Given the description of an element on the screen output the (x, y) to click on. 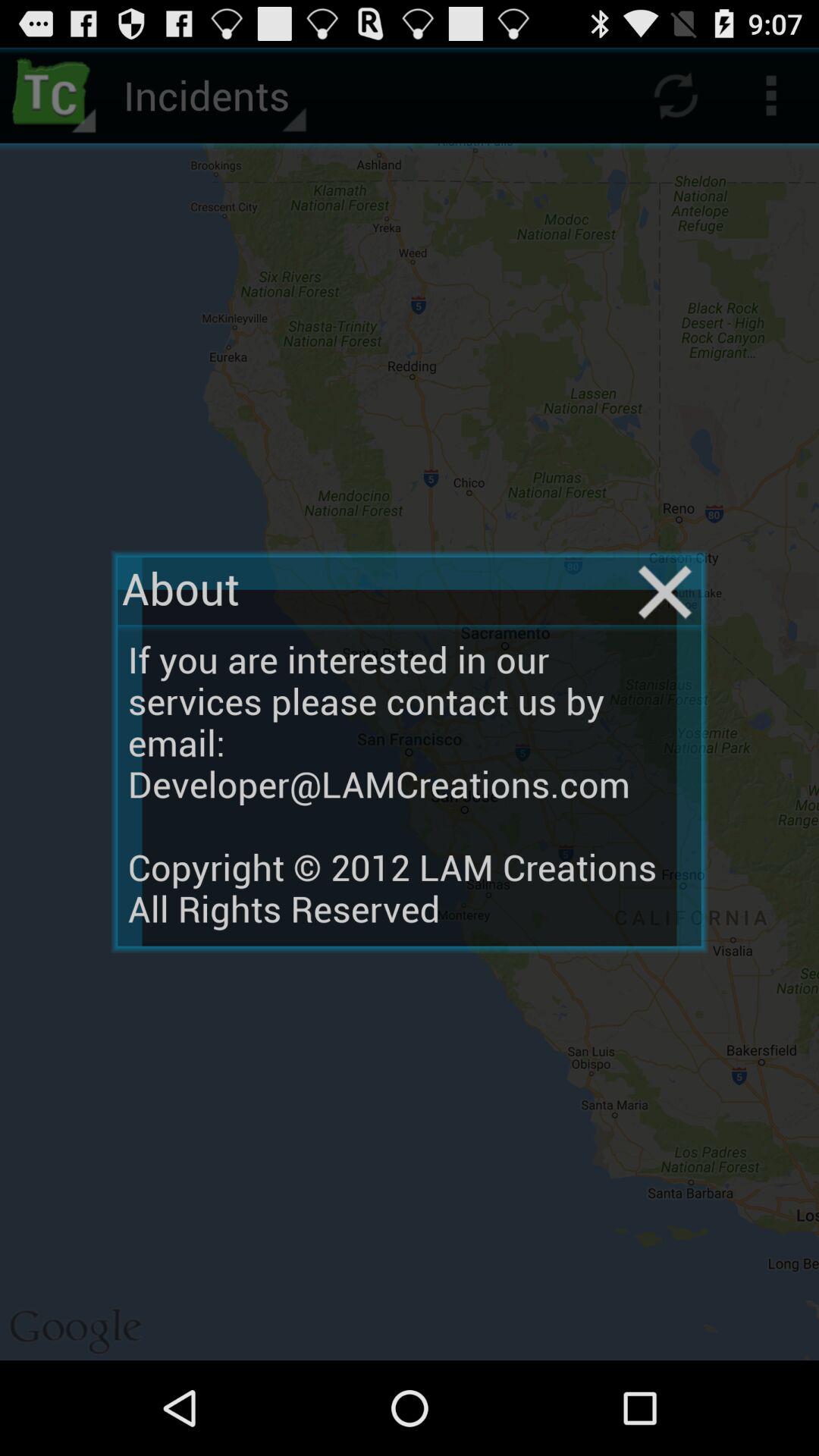
turn off item to the right of the about item (664, 592)
